Given the description of an element on the screen output the (x, y) to click on. 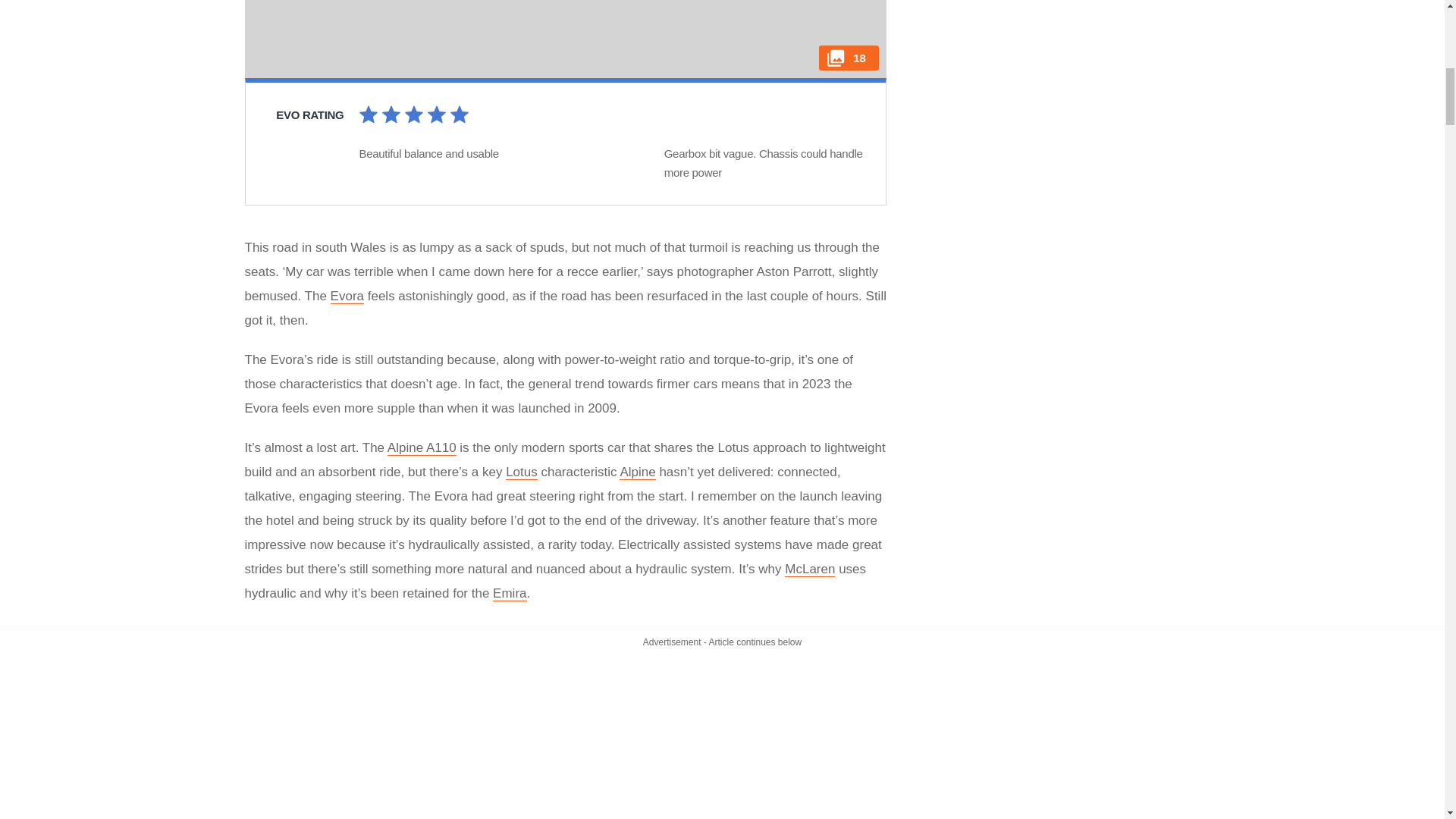
Alpine (637, 472)
Lotus (521, 472)
McLaren (809, 569)
Emira (509, 593)
Evora (347, 296)
18 (564, 38)
5 Stars (458, 116)
Alpine A110 (422, 447)
